Given the description of an element on the screen output the (x, y) to click on. 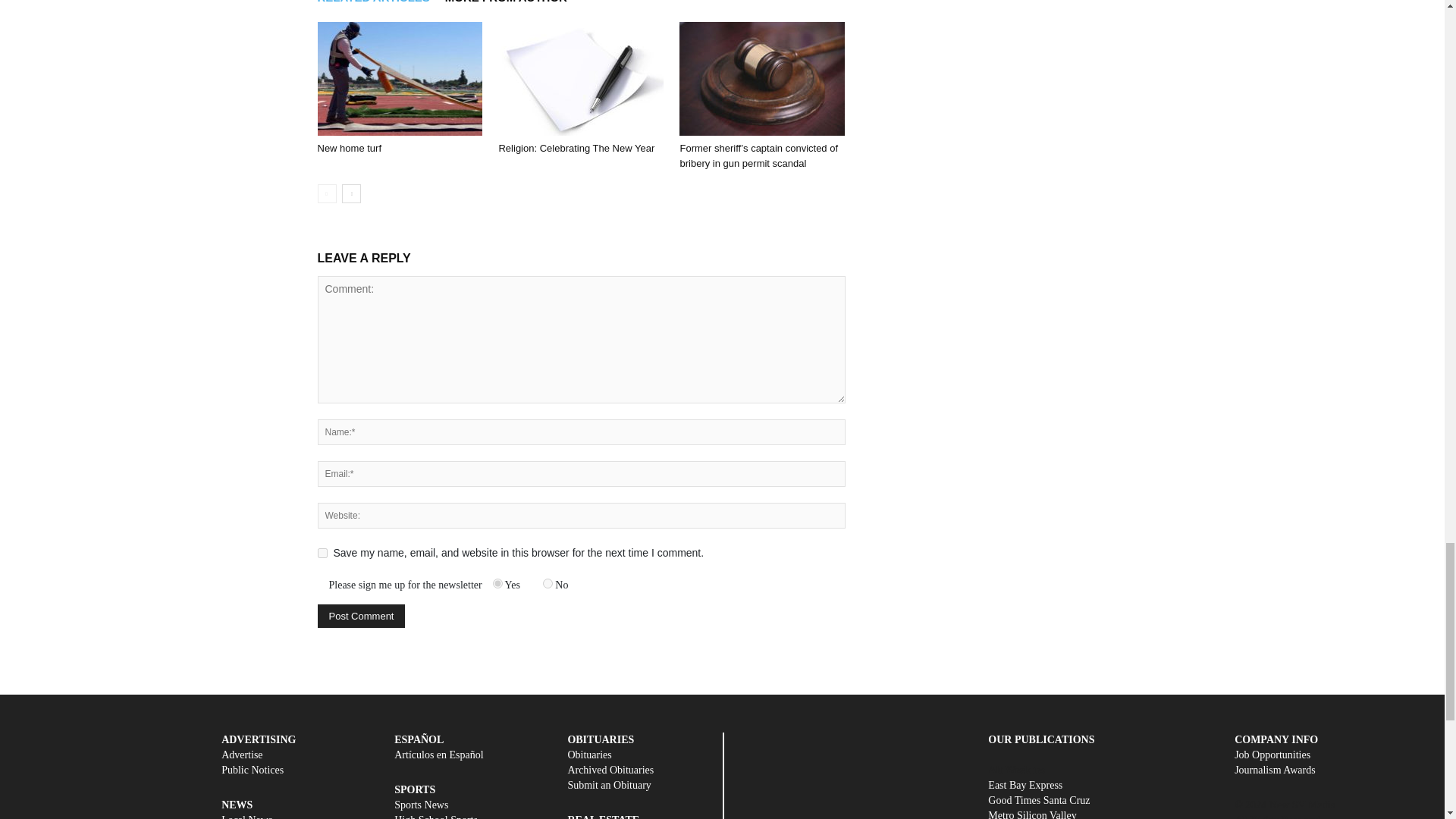
yes (321, 552)
Yes (497, 583)
Post Comment (360, 616)
No (548, 583)
